Given the description of an element on the screen output the (x, y) to click on. 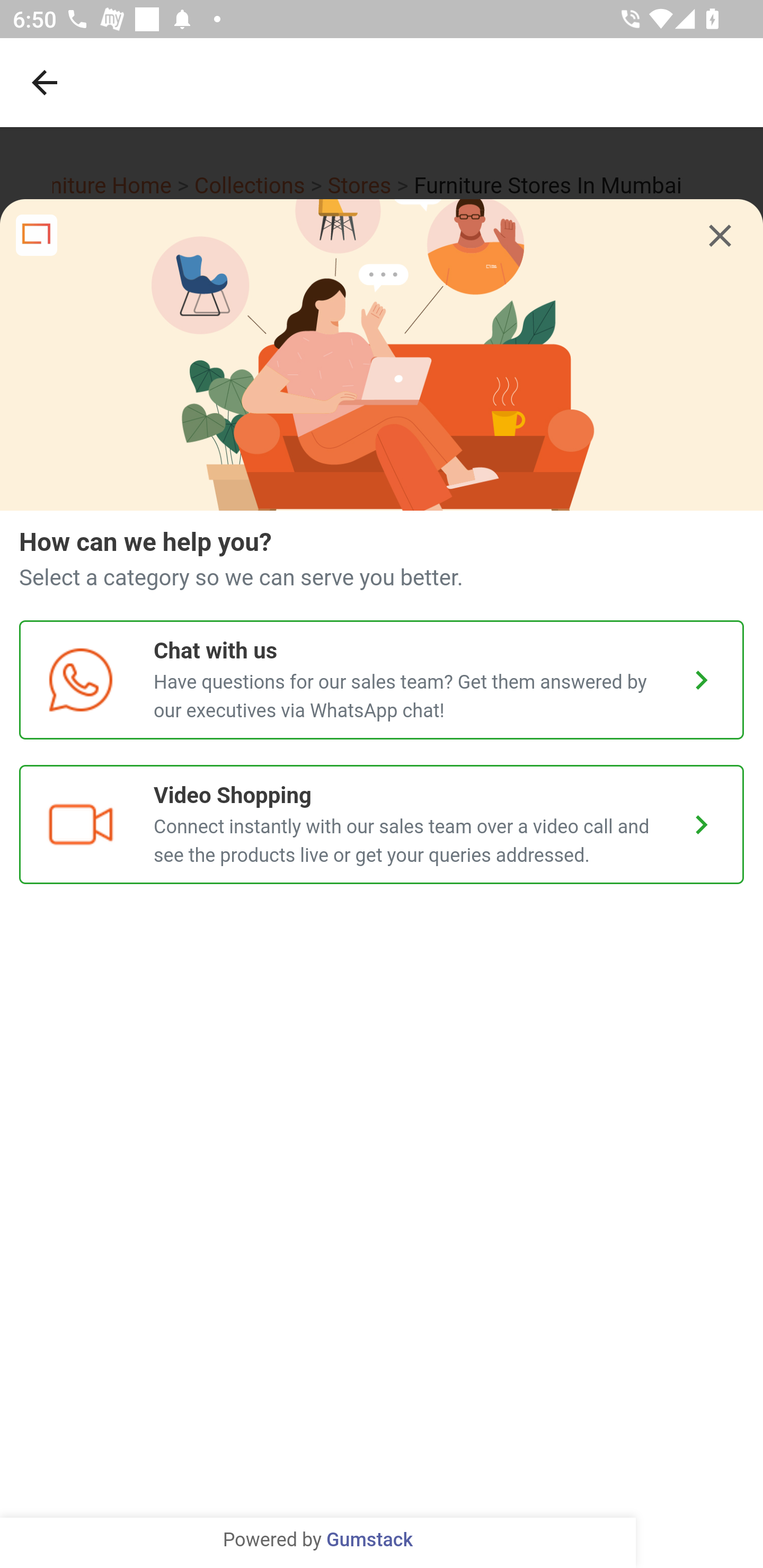
Navigate up (44, 82)
clear (720, 235)
Gumstack (369, 1540)
